Given the description of an element on the screen output the (x, y) to click on. 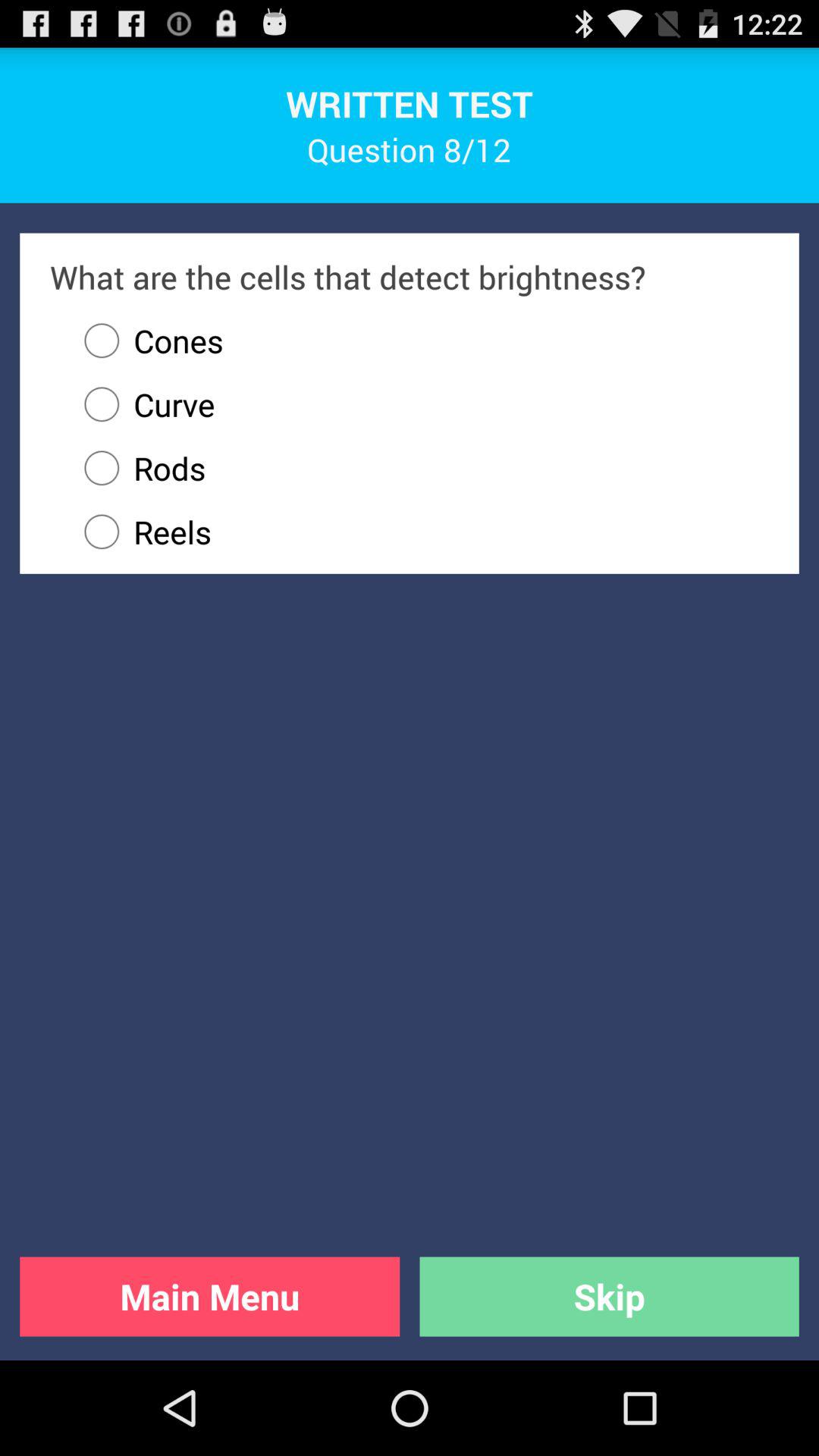
turn off icon above the rods item (141, 404)
